Given the description of an element on the screen output the (x, y) to click on. 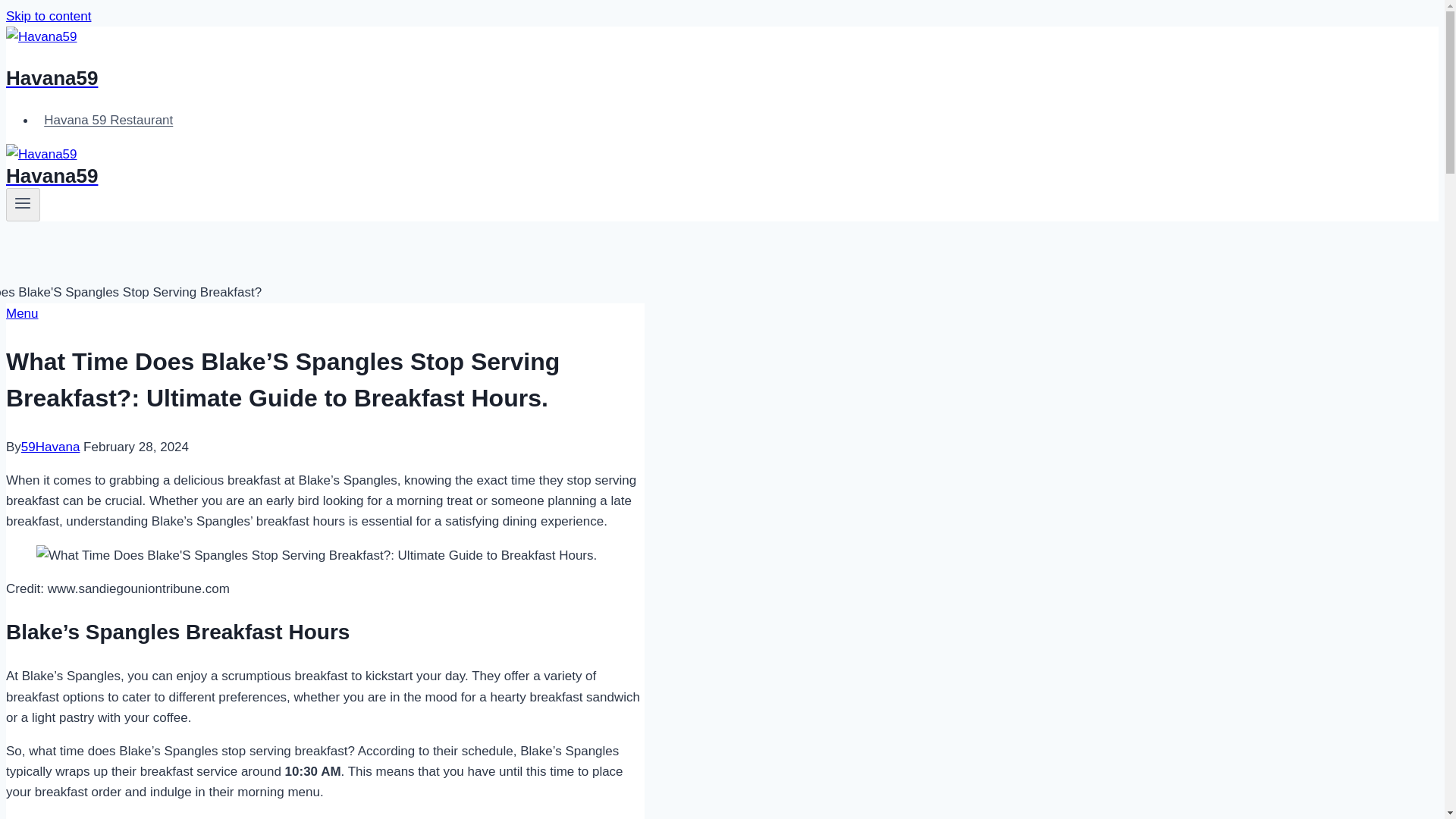
Skip to content (47, 16)
Havana59 (494, 167)
Havana 59 Restaurant (108, 120)
Skip to content (47, 16)
Toggle Menu (22, 203)
Toggle Menu (22, 204)
Menu (22, 313)
59Havana (50, 446)
Havana59 (494, 59)
